Given the description of an element on the screen output the (x, y) to click on. 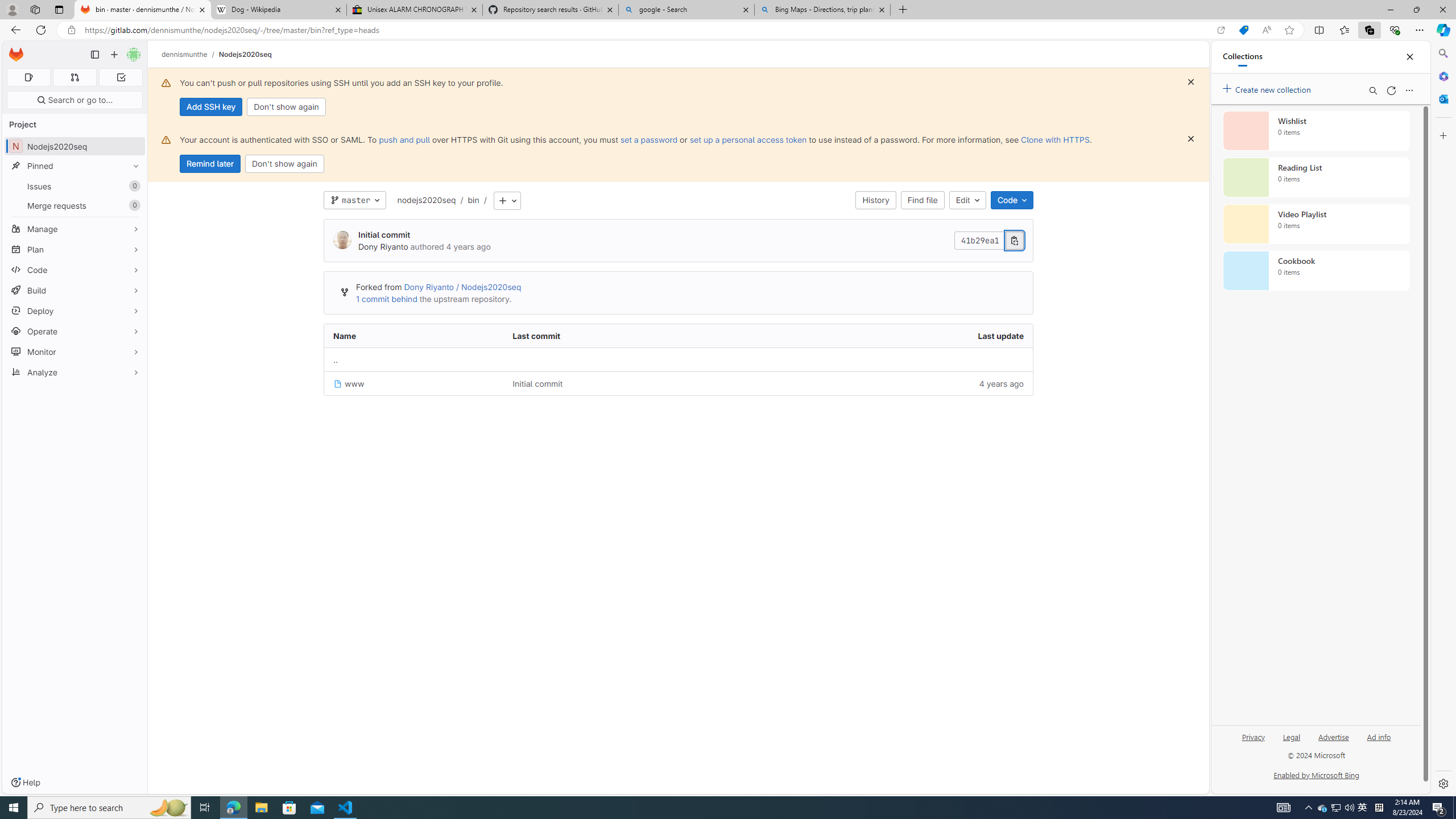
Outlook (1442, 98)
www (348, 383)
Go to parent (335, 359)
Homepage (16, 54)
History (876, 199)
Open in app (1220, 29)
Advertise (1333, 736)
Monitor (74, 351)
Remind later (210, 163)
